Given the description of an element on the screen output the (x, y) to click on. 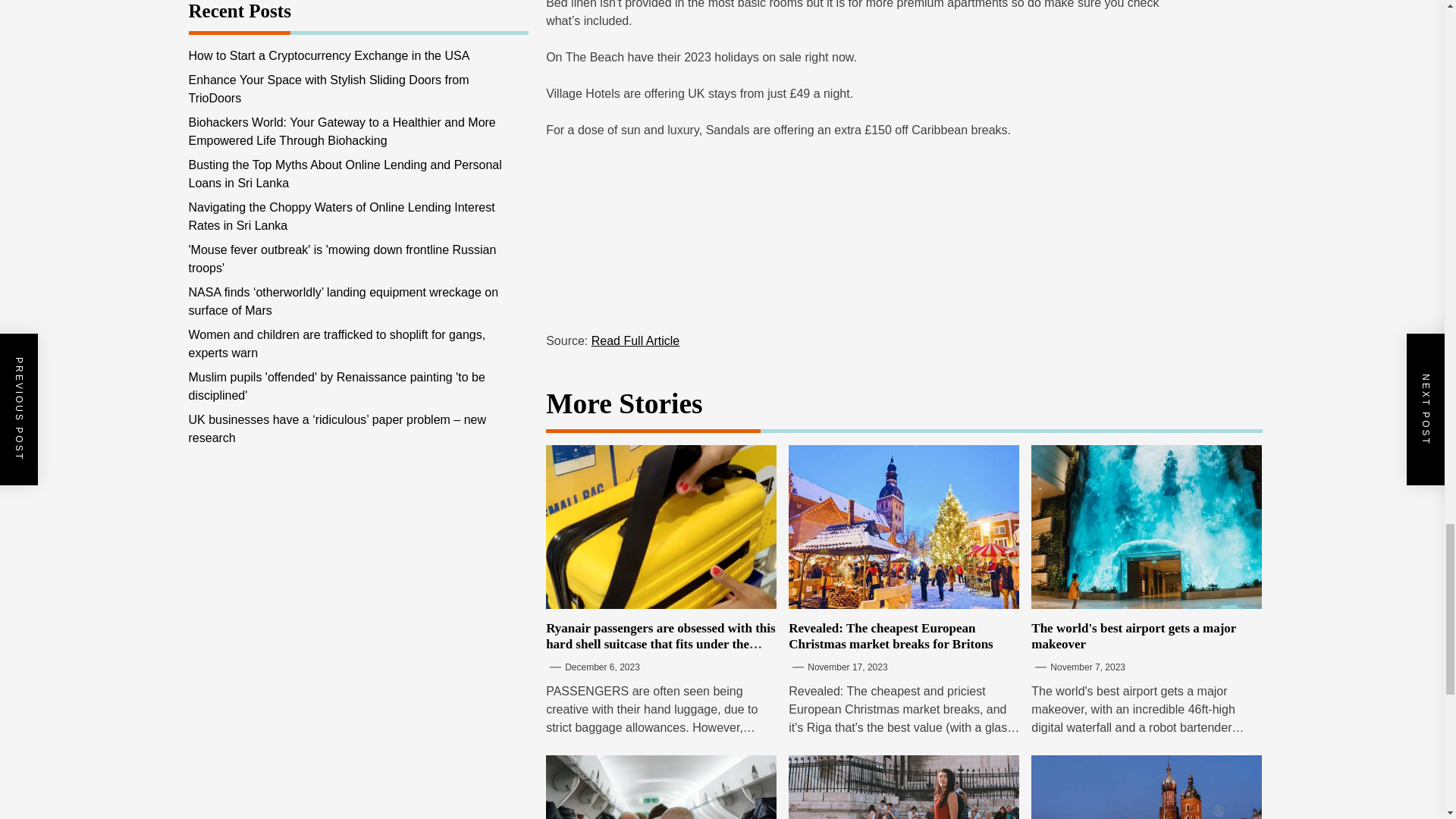
Read Full Article (635, 340)
